Given the description of an element on the screen output the (x, y) to click on. 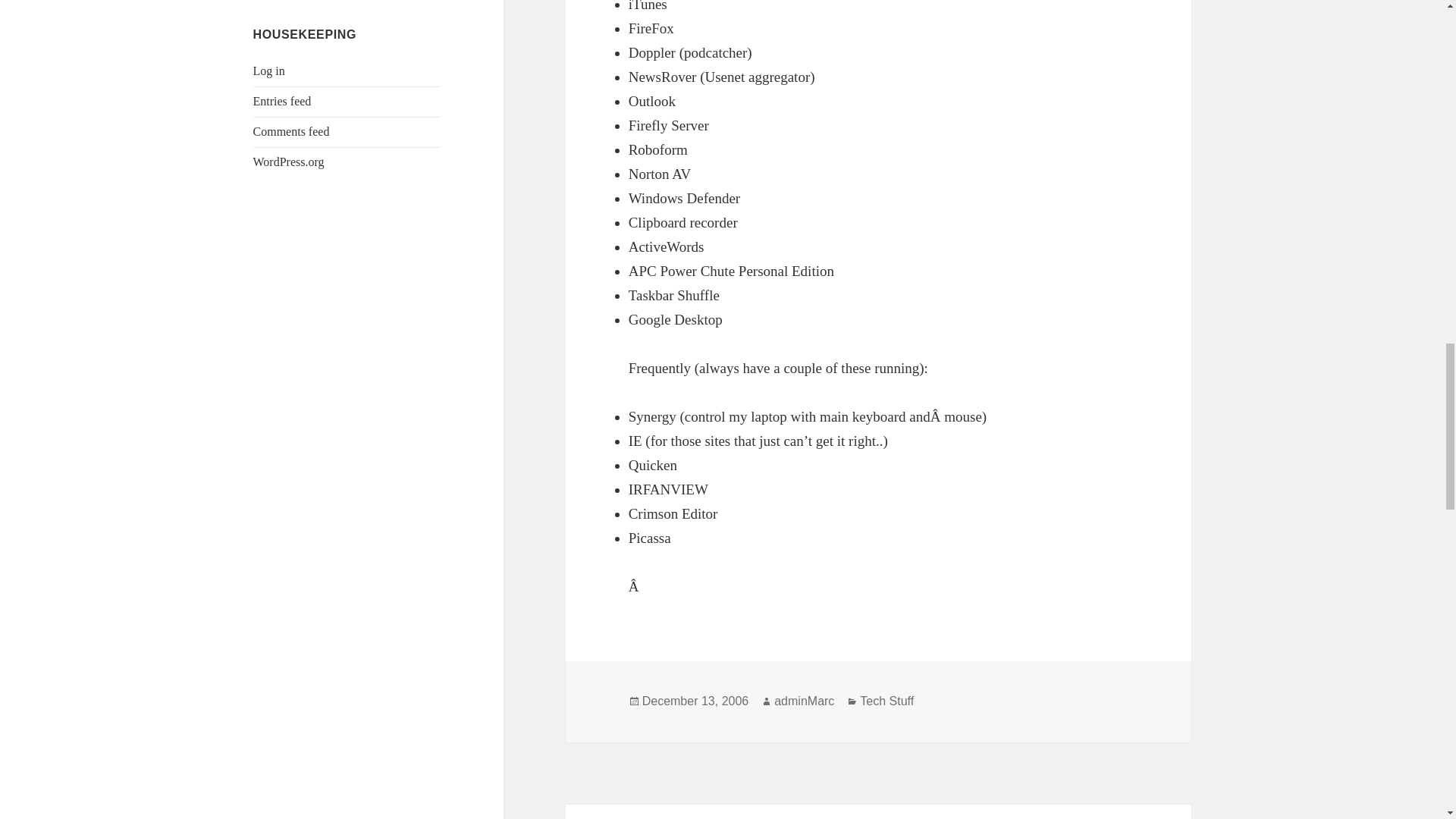
Log in (269, 70)
Tech Stuff (887, 701)
Comments feed (291, 131)
December 13, 2006 (695, 701)
WordPress.org (288, 161)
Entries feed (282, 101)
adminMarc (804, 701)
